Given the description of an element on the screen output the (x, y) to click on. 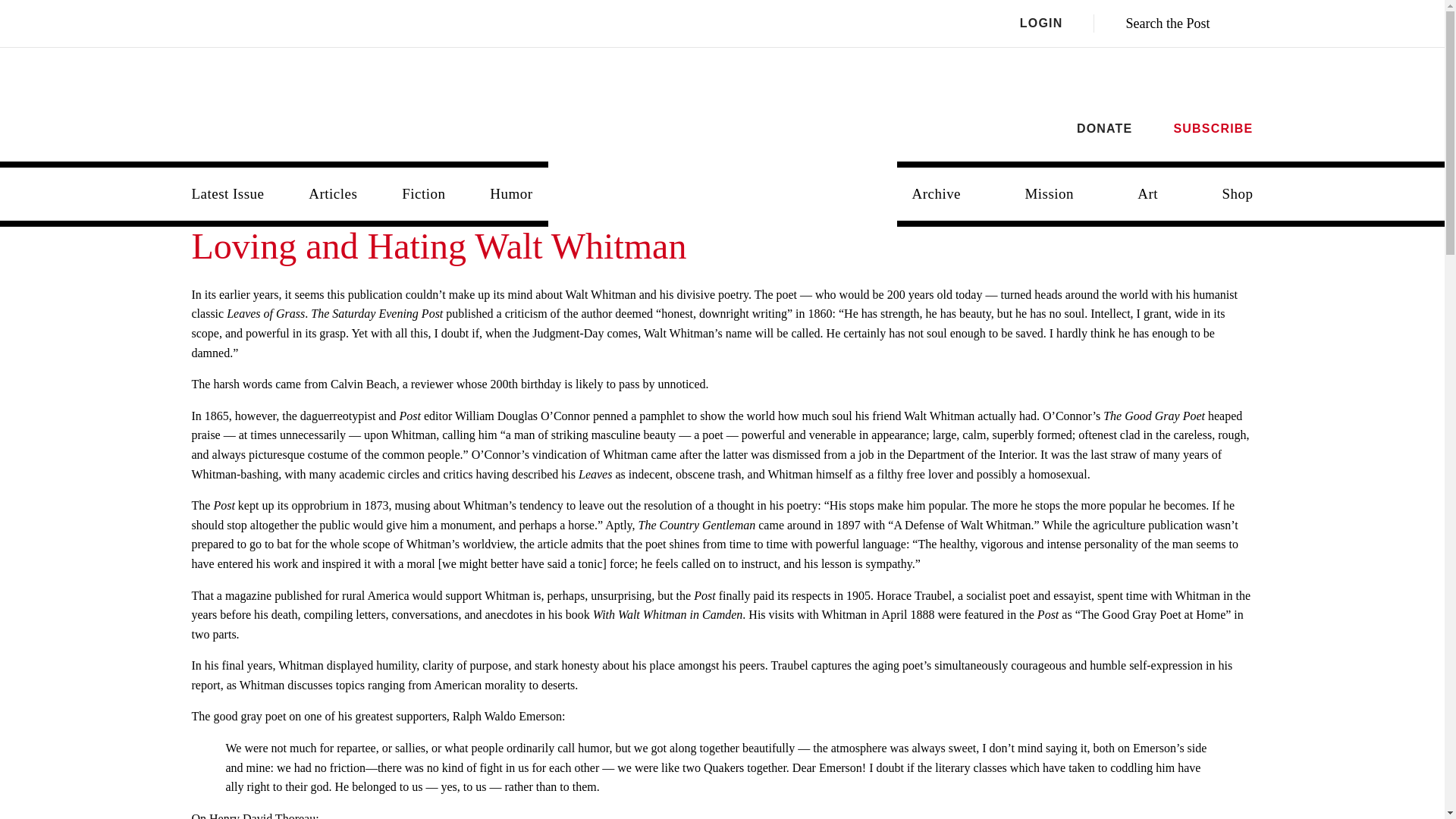
Humor (510, 193)
Archive (935, 193)
Shop (1237, 193)
Latest Issue (227, 193)
Loving and Hating Walt Whitman (437, 246)
Fiction (423, 193)
The Saturday Evening Post (722, 181)
Articles (333, 193)
Mission (1049, 193)
Art (1147, 193)
